Given the description of an element on the screen output the (x, y) to click on. 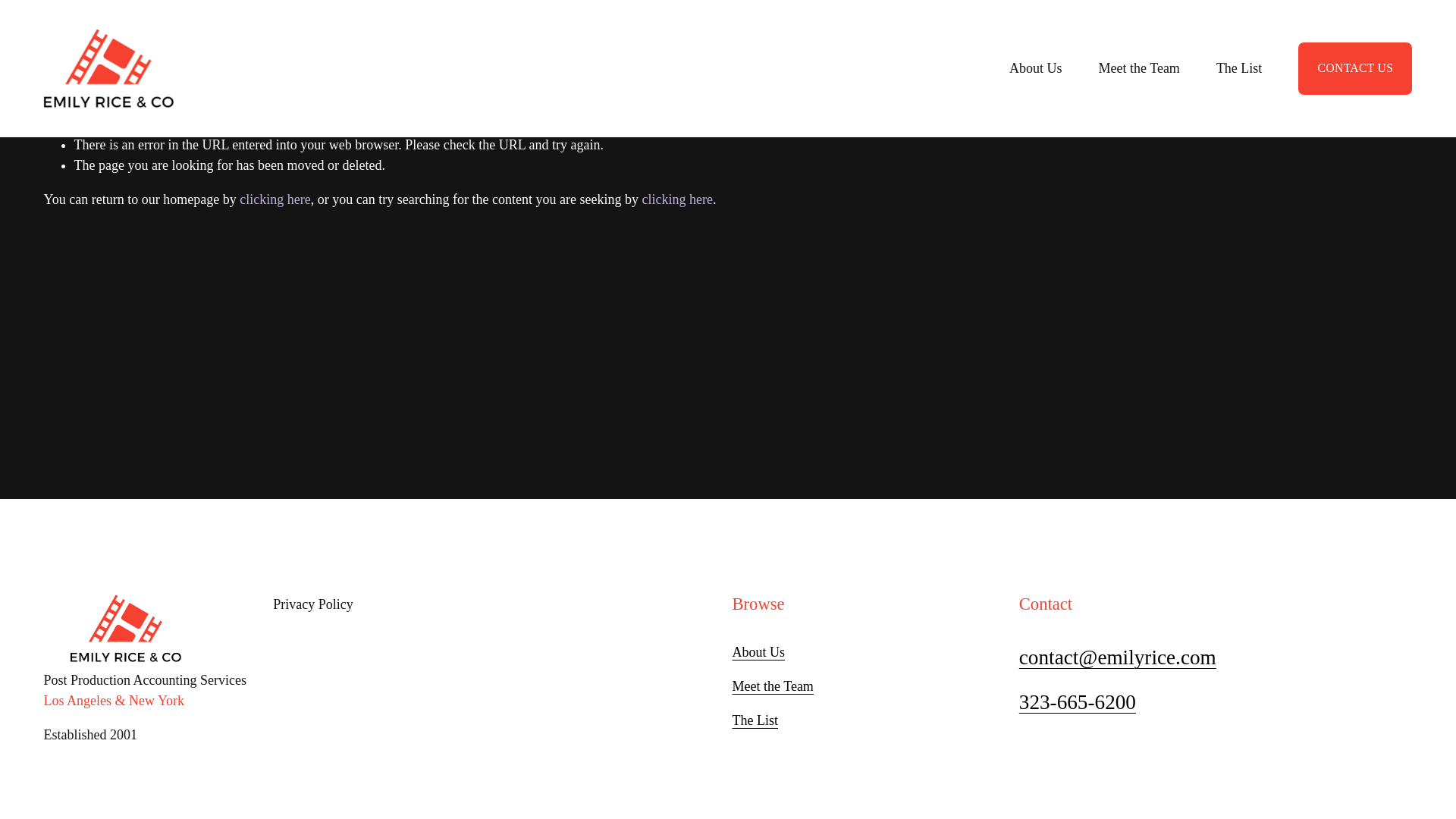
Meet the Team (1138, 68)
The List (1238, 68)
Privacy Policy (498, 604)
clicking here (677, 199)
About Us (759, 652)
About Us (1035, 68)
The List (755, 720)
CONTACT US (1355, 68)
Meet the Team (772, 686)
clicking here (275, 199)
